Given the description of an element on the screen output the (x, y) to click on. 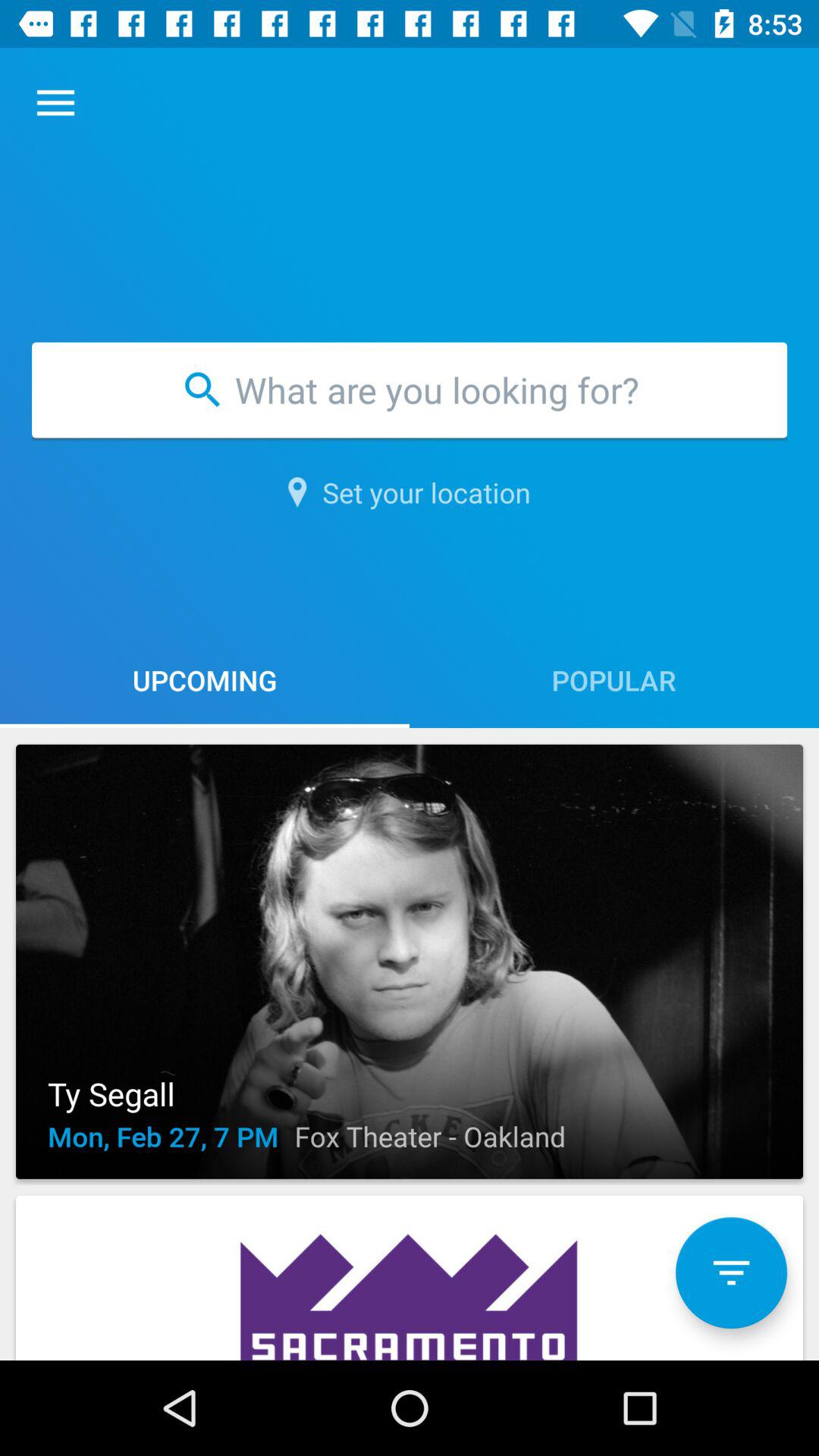
press icon at the bottom right corner (731, 1272)
